Given the description of an element on the screen output the (x, y) to click on. 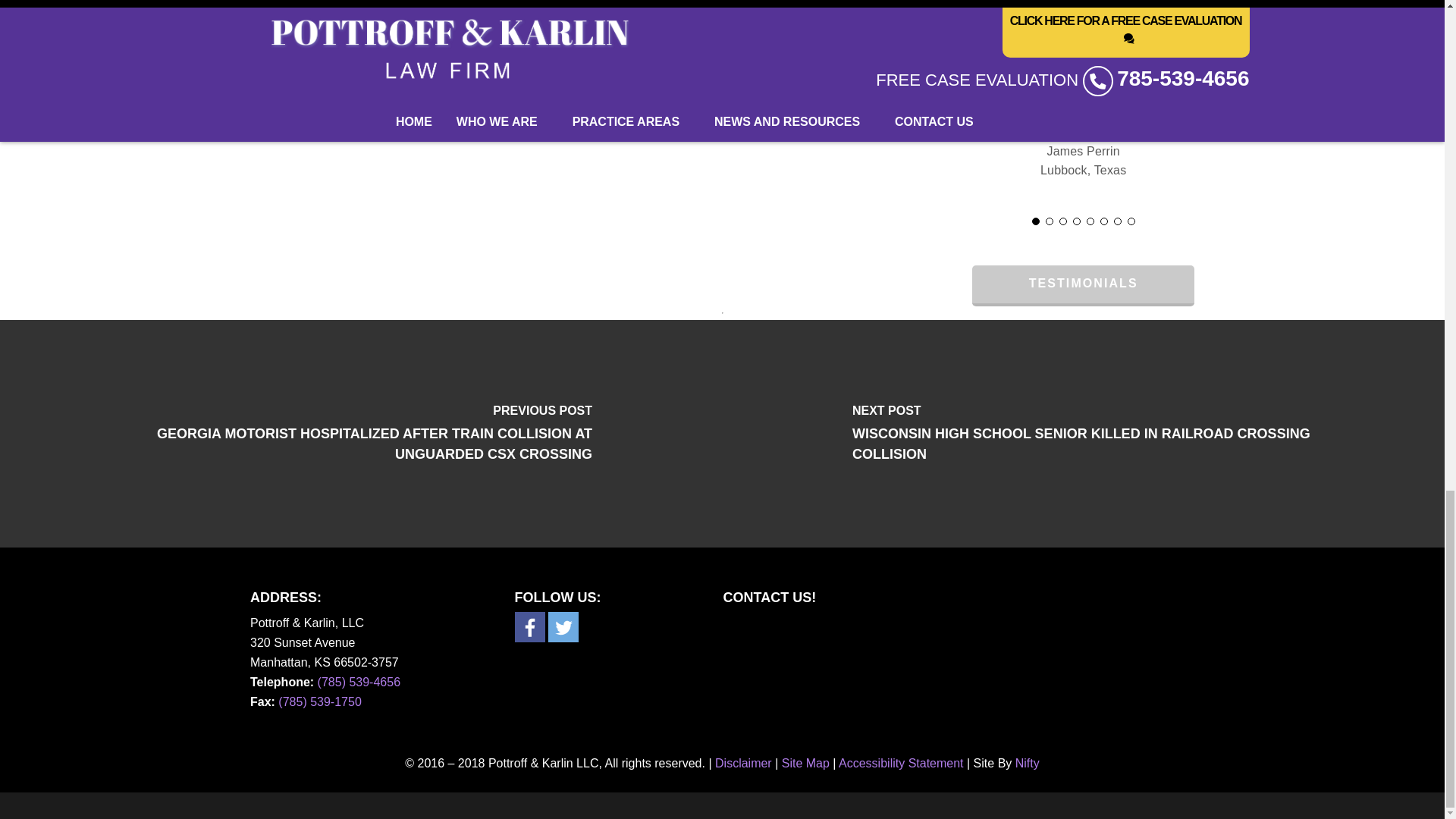
Contact form (949, 676)
